Given the description of an element on the screen output the (x, y) to click on. 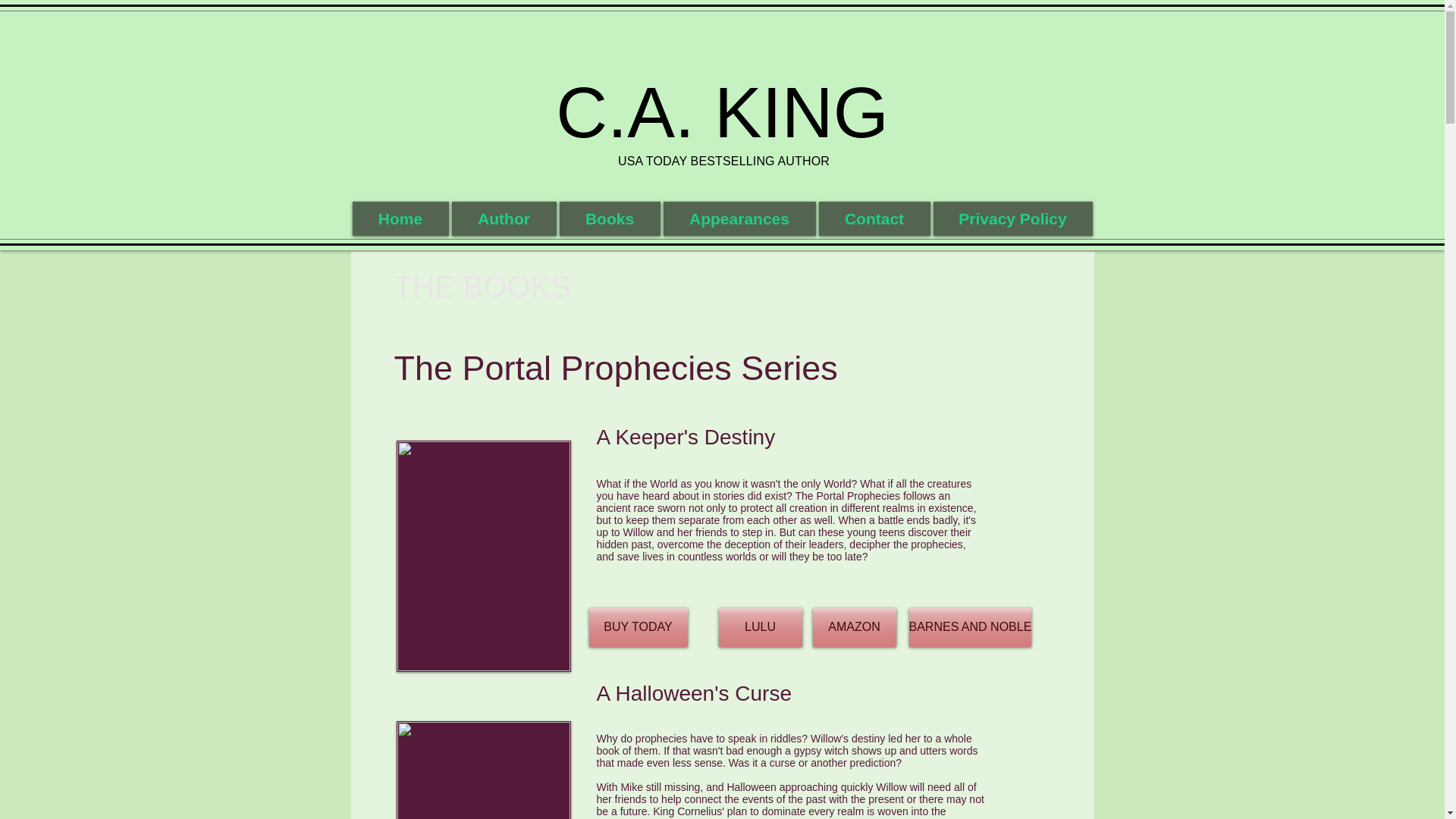
BUY TODAY (637, 627)
Author (503, 218)
BARNES AND NOBLE (969, 627)
LULU (760, 627)
Privacy Policy (1012, 218)
Home (400, 218)
Contact (874, 218)
Appearances (738, 218)
BOOK 2 COVER copy.png (483, 770)
AMAZON (854, 627)
